Given the description of an element on the screen output the (x, y) to click on. 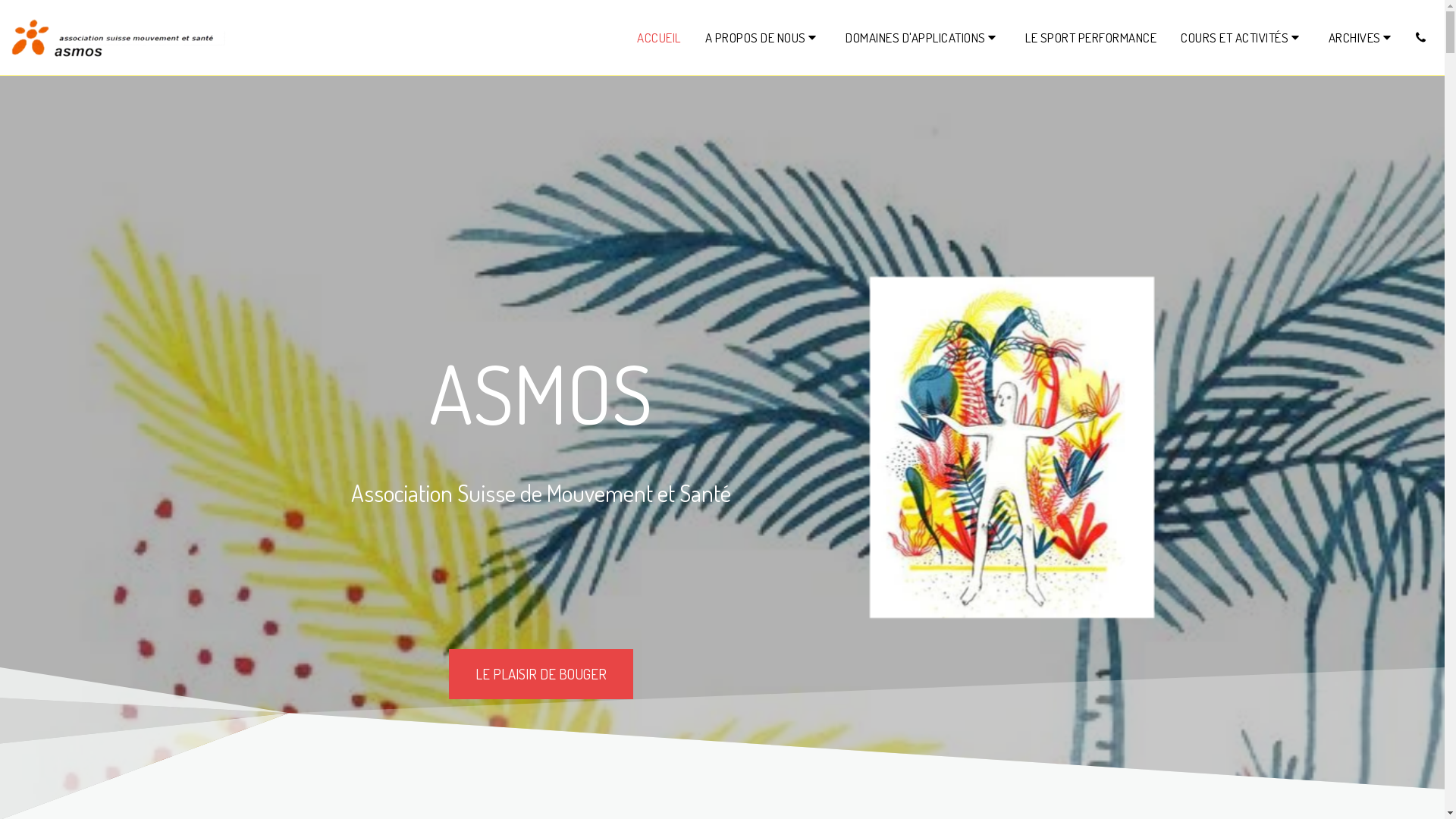
LE PLAISIR DE BOUGER Element type: text (540, 674)
DOMAINES D'APPLICATIONS   Element type: text (923, 37)
ACCUEIL Element type: text (658, 37)
ARCHIVES   Element type: text (1361, 37)
LE SPORT PERFORMANCE Element type: text (1090, 37)
  Element type: text (1420, 37)
A PROPOS DE NOUS   Element type: text (762, 37)
